Given the description of an element on the screen output the (x, y) to click on. 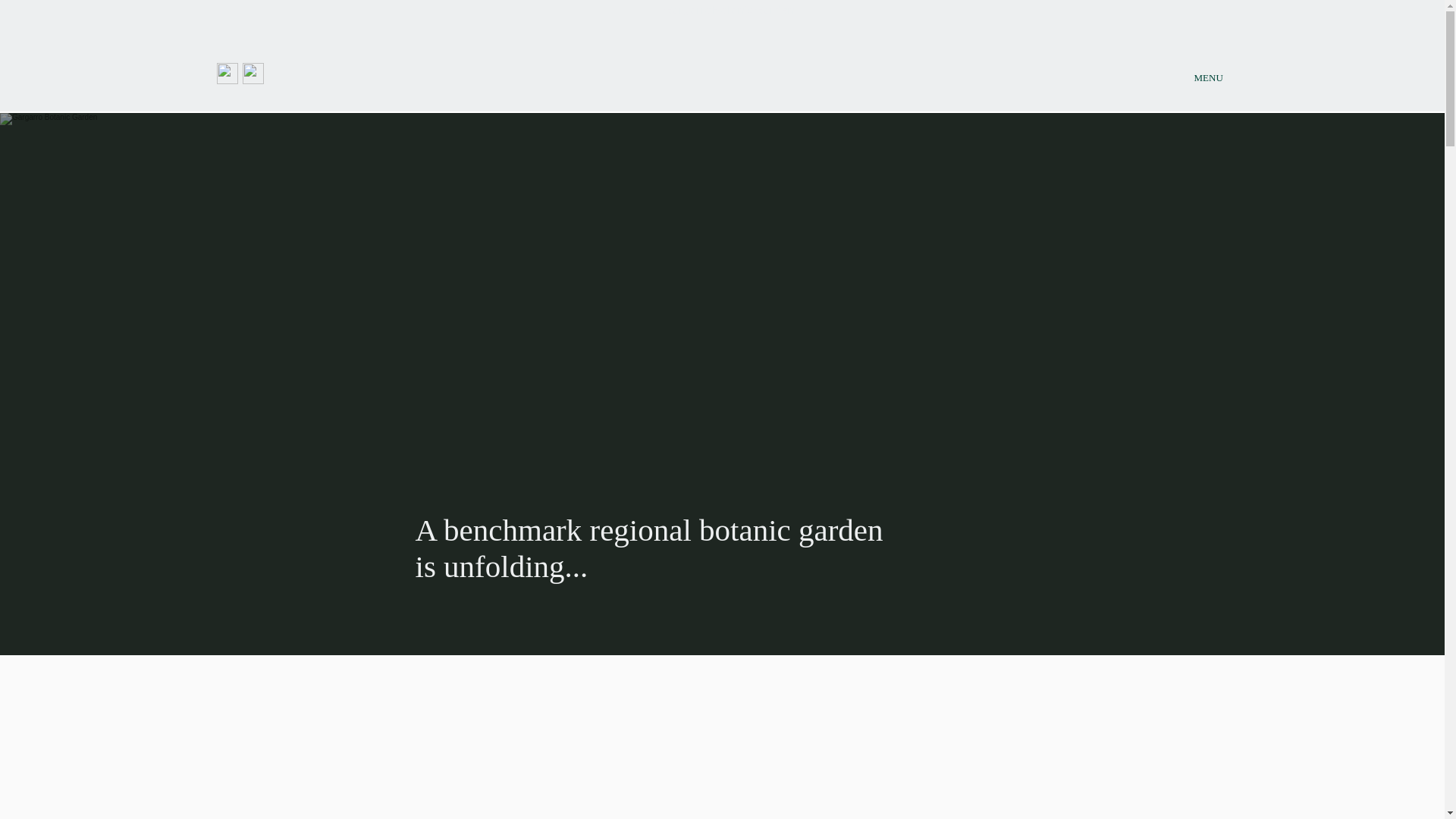
MENU Element type: text (1208, 78)
